Given the description of an element on the screen output the (x, y) to click on. 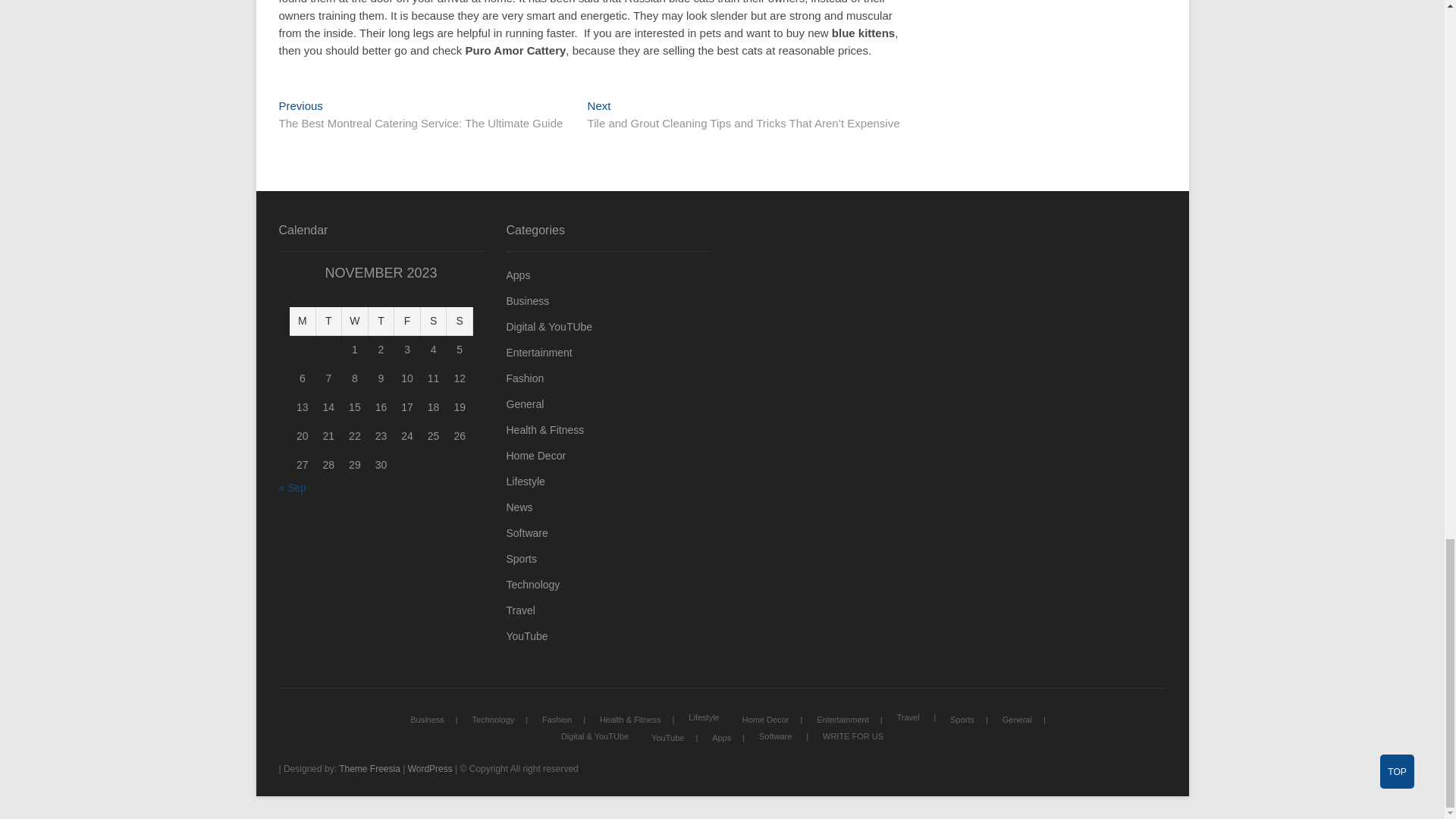
Thursday (381, 321)
WordPress (429, 768)
Friday (407, 321)
Theme Freesia (369, 768)
Saturday (433, 321)
Sunday (459, 321)
Tuesday (328, 321)
Wednesday (355, 321)
Apps (608, 275)
